Given the description of an element on the screen output the (x, y) to click on. 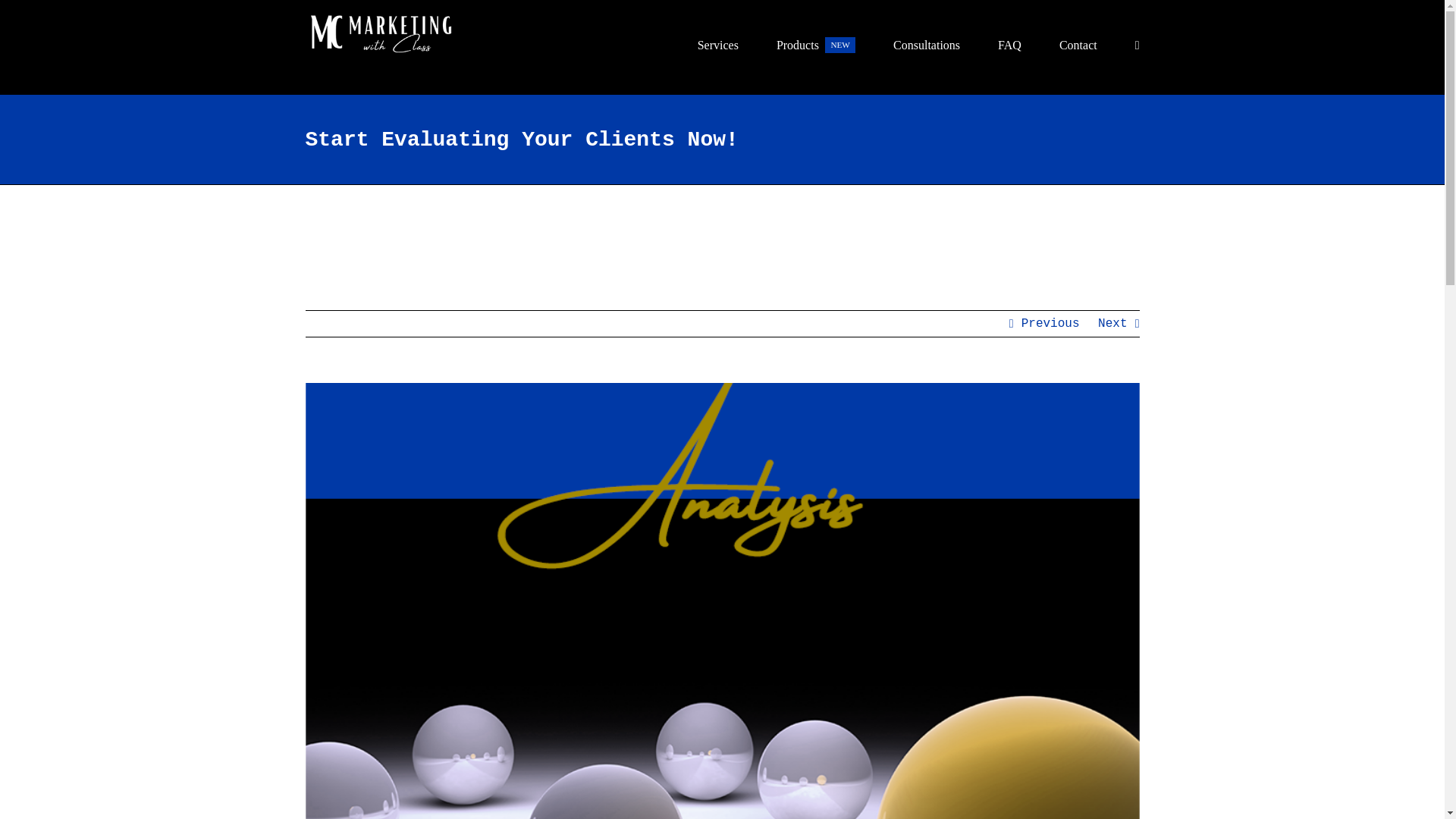
Consultations (926, 39)
Next (816, 39)
Previous (1111, 323)
